Given the description of an element on the screen output the (x, y) to click on. 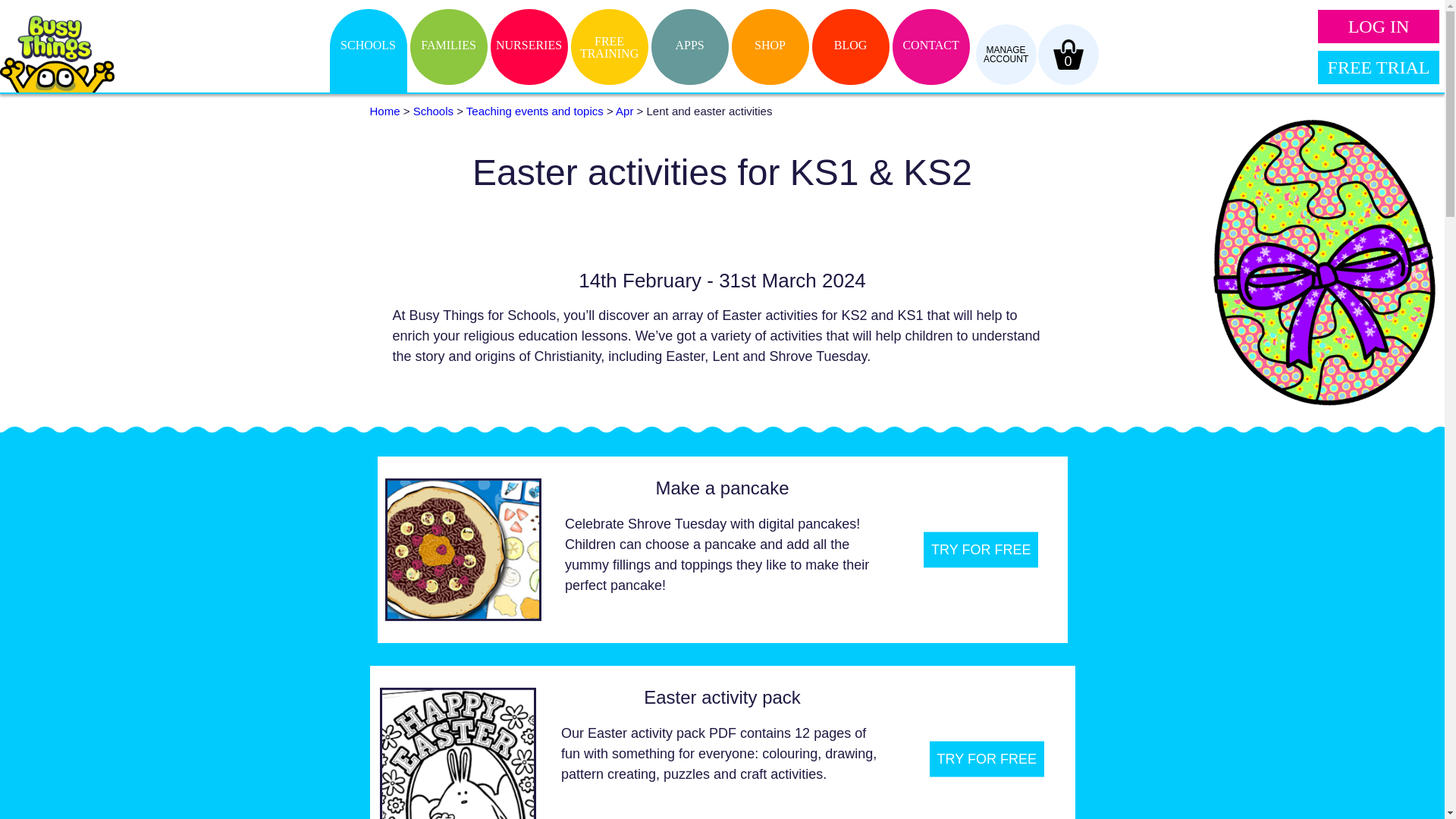
Log in (1378, 14)
Free trial (1378, 52)
